Given the description of an element on the screen output the (x, y) to click on. 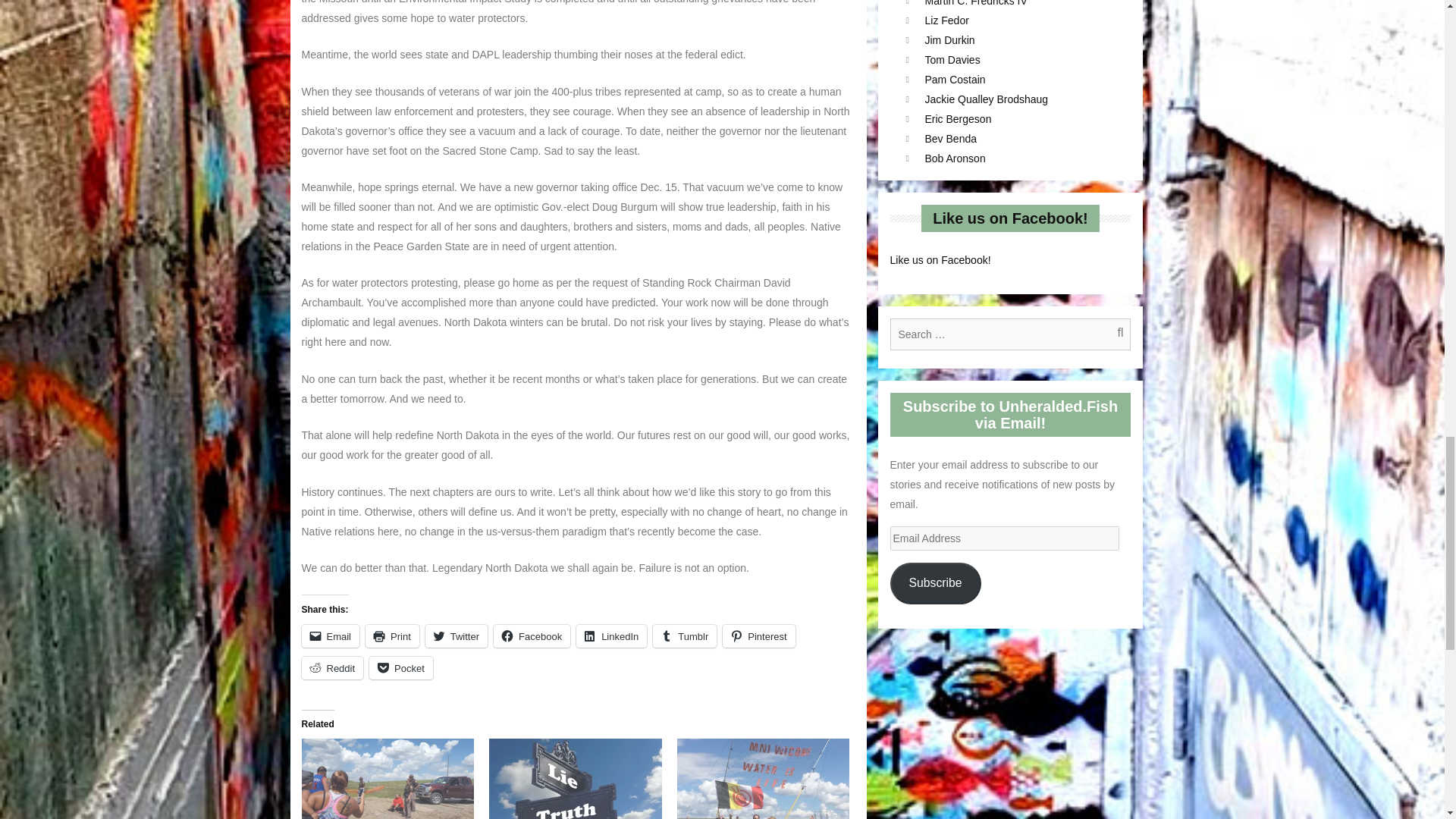
Click to share on Reddit (332, 667)
Facebook (531, 635)
Pinterest (758, 635)
Tumblr (684, 635)
Reddit (332, 667)
Twitter (456, 635)
Search (1112, 333)
Print (392, 635)
Click to email a link to a friend (330, 635)
Email (330, 635)
Search (1112, 333)
Click to share on Tumblr (684, 635)
Click to share on LinkedIn (611, 635)
Click to print (392, 635)
Click to share on Twitter (456, 635)
